Given the description of an element on the screen output the (x, y) to click on. 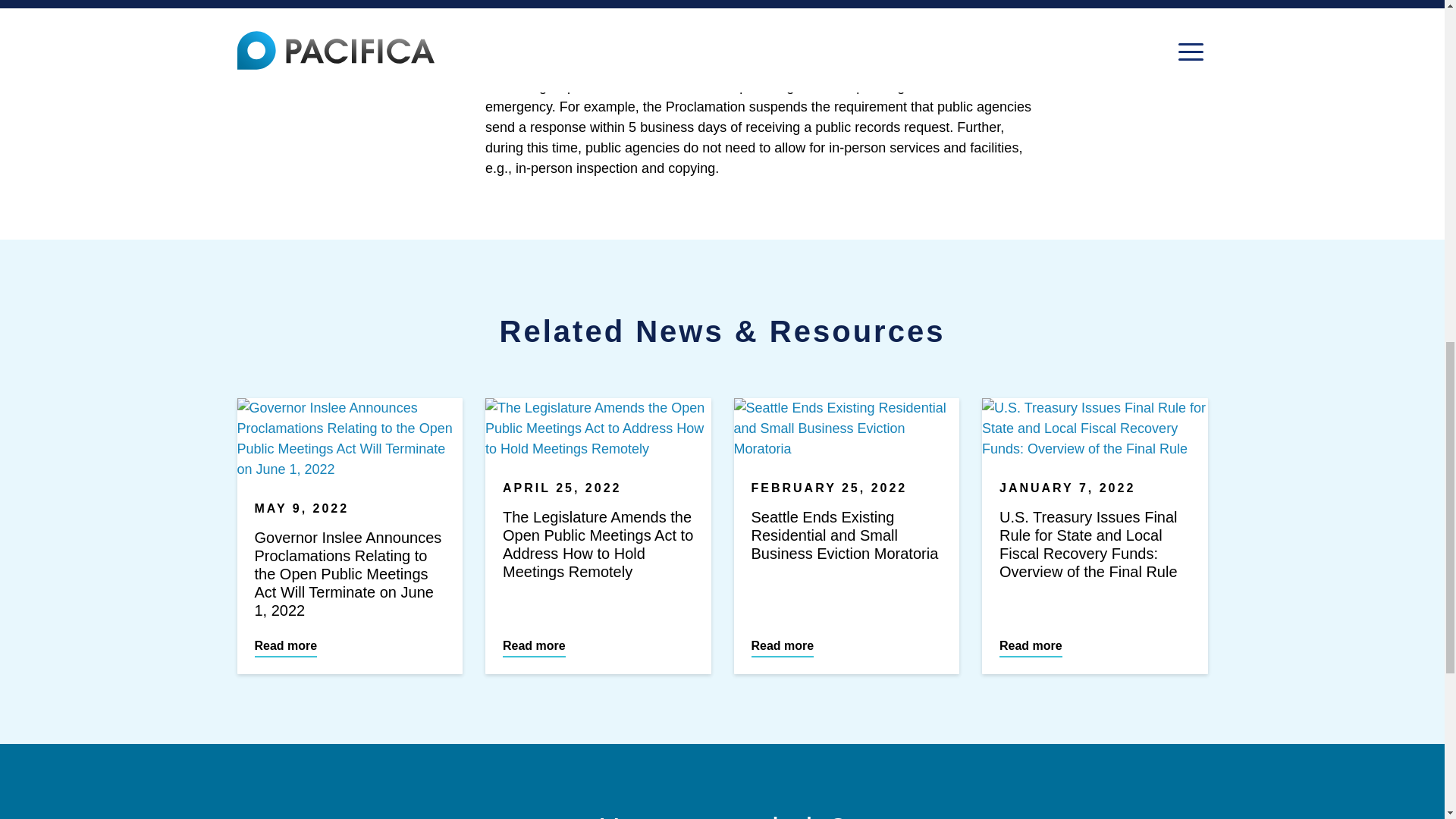
Read more (534, 648)
Read more (782, 648)
Read more (1030, 648)
Read more (285, 648)
